Given the description of an element on the screen output the (x, y) to click on. 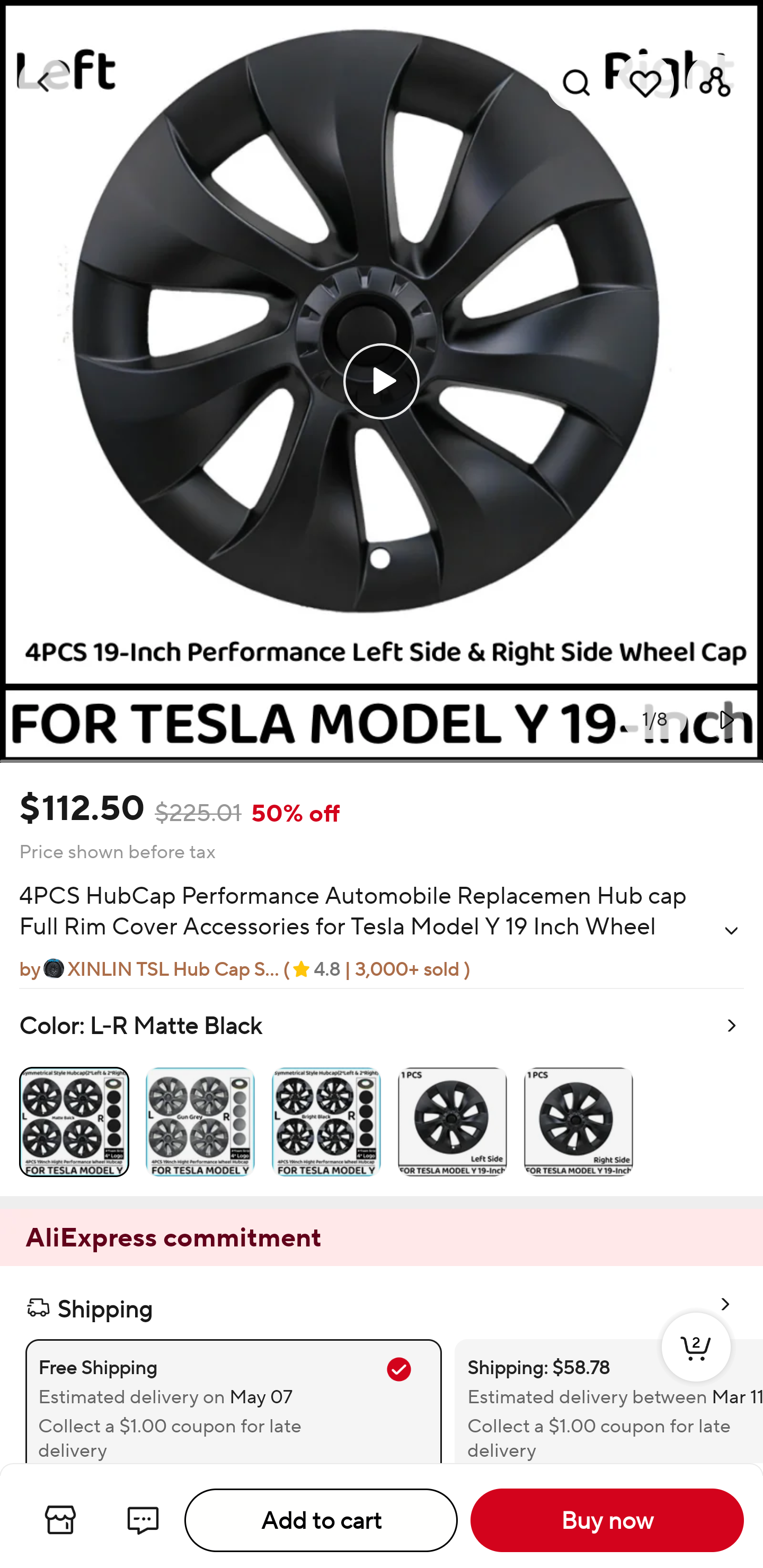
0.0 (381, 381)
Navigate up (44, 82)
 (724, 719)
 (730, 930)
Color: L-R Matte Black  (381, 1092)
2 (695, 1366)
Add to cart (320, 1520)
Buy now (606, 1520)
